Given the description of an element on the screen output the (x, y) to click on. 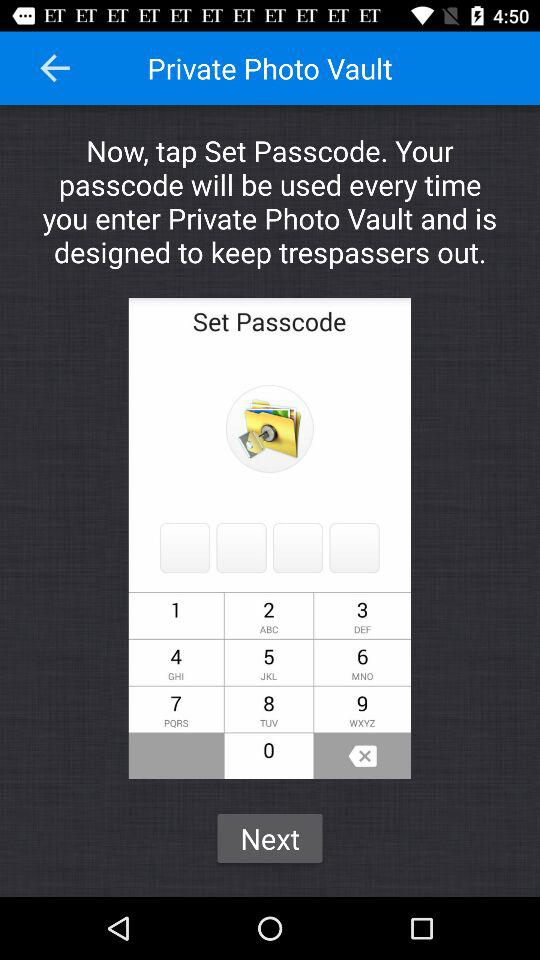
turn on the item to the left of private photo vault item (55, 68)
